Given the description of an element on the screen output the (x, y) to click on. 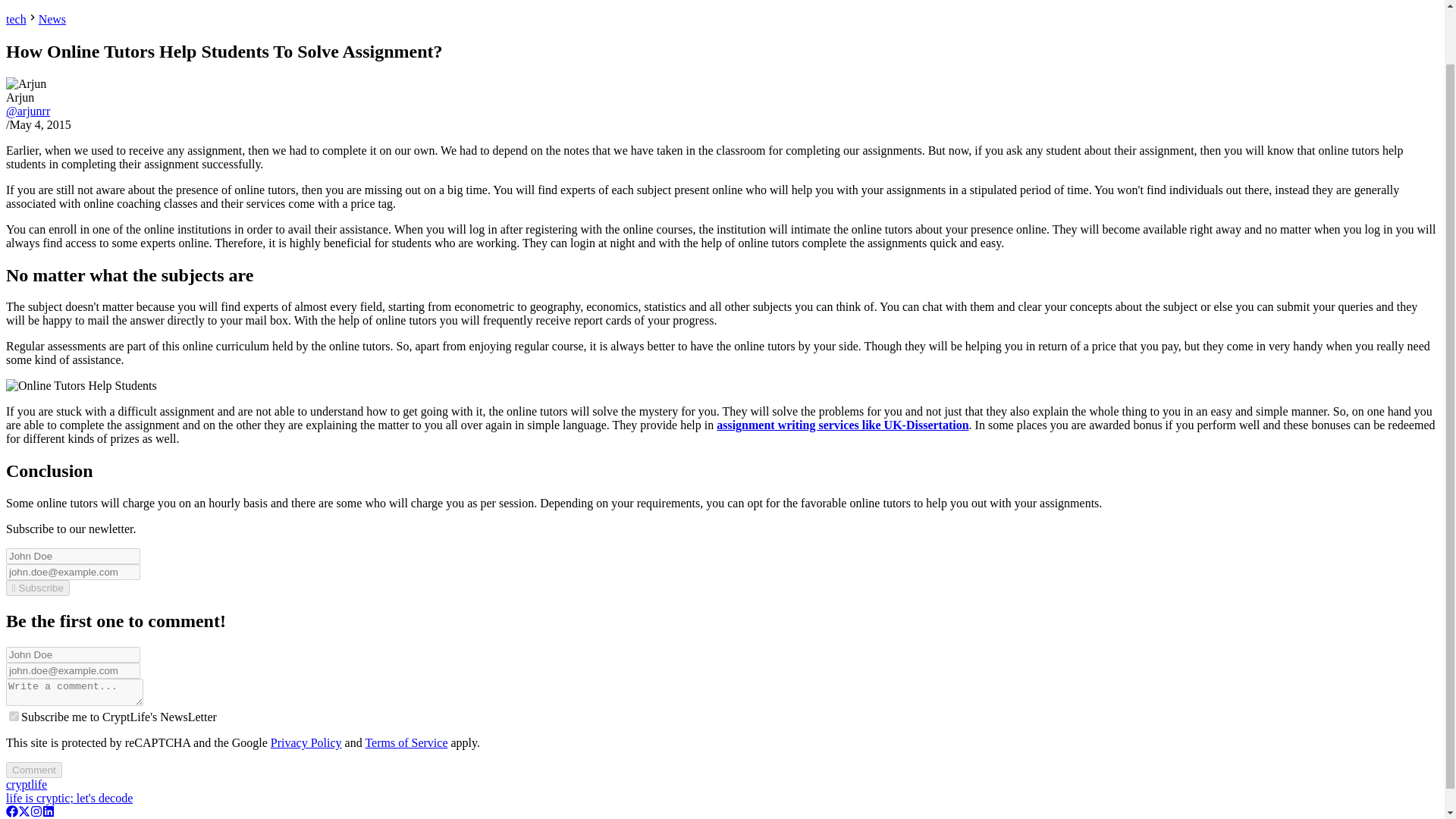
tech (15, 19)
News (52, 19)
on (13, 716)
Comment (33, 770)
assignment writing services like UK-Dissertation (842, 424)
Privacy Policy (306, 742)
Terms of Service (405, 742)
